Given the description of an element on the screen output the (x, y) to click on. 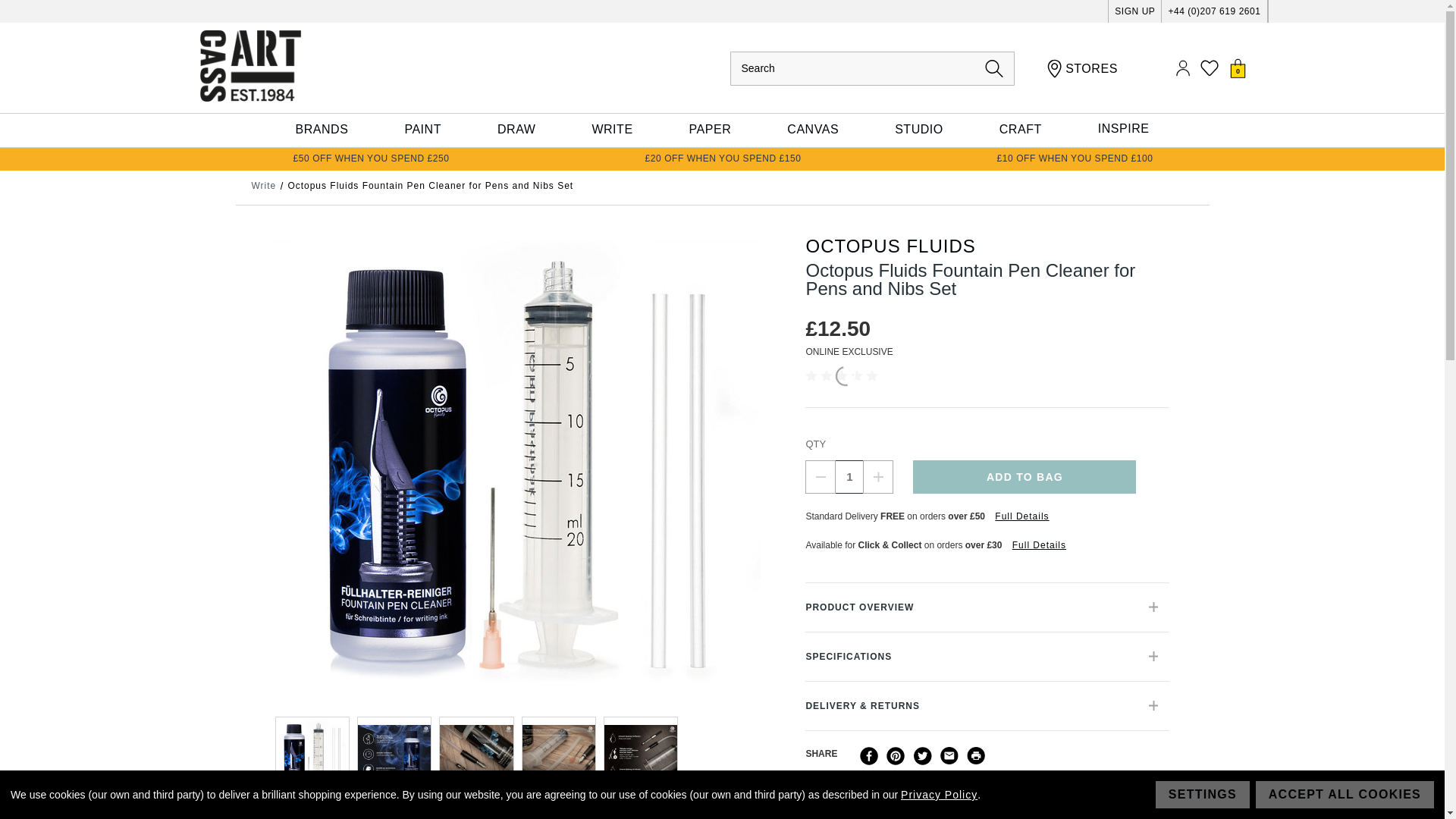
 Octopus Fluids Fountain Pen Cleaner for Pens and Nibs Set  (393, 753)
Print (975, 755)
STORES (1082, 67)
Pinterest (895, 755)
 Octopus Fluids Fountain Pen Cleaner for Pens and Nibs Set  (641, 753)
 Octopus Fluids Fountain Pen Cleaner for Pens and Nibs Set  (558, 753)
BRANDS (322, 130)
SIGN UP (1134, 11)
Email (949, 755)
Facebook (868, 755)
 Octopus Fluids Fountain Pen Cleaner for Pens and Nibs Set  (312, 753)
 Octopus Fluids Fountain Pen Cleaner for Pens and Nibs Set  (476, 753)
Add to Bag (1023, 476)
Cass Art (249, 65)
